Given the description of an element on the screen output the (x, y) to click on. 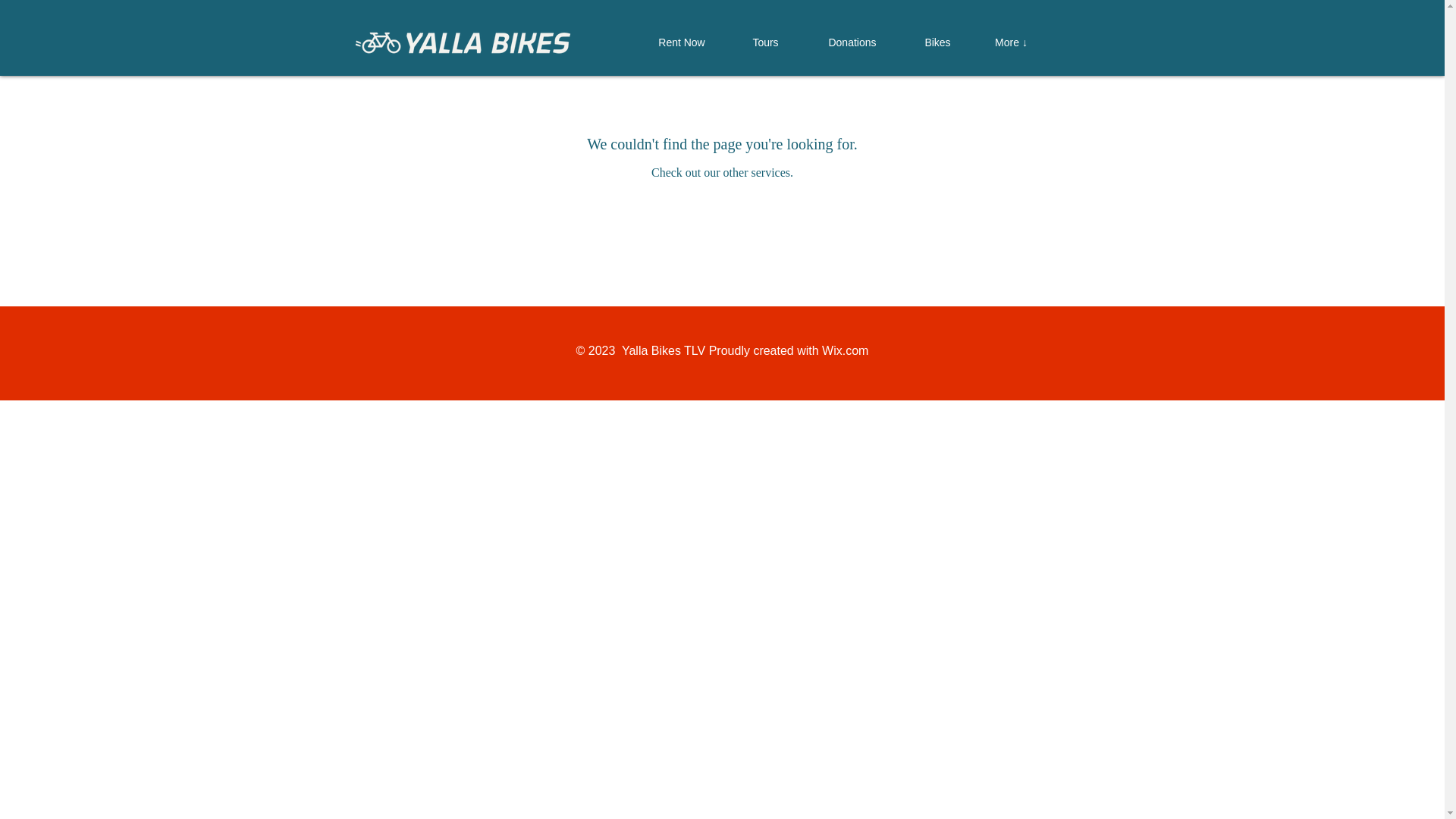
Bikes (937, 42)
Wix.com (844, 350)
Rent Now (681, 42)
Tours (765, 42)
Donations (852, 42)
